Given the description of an element on the screen output the (x, y) to click on. 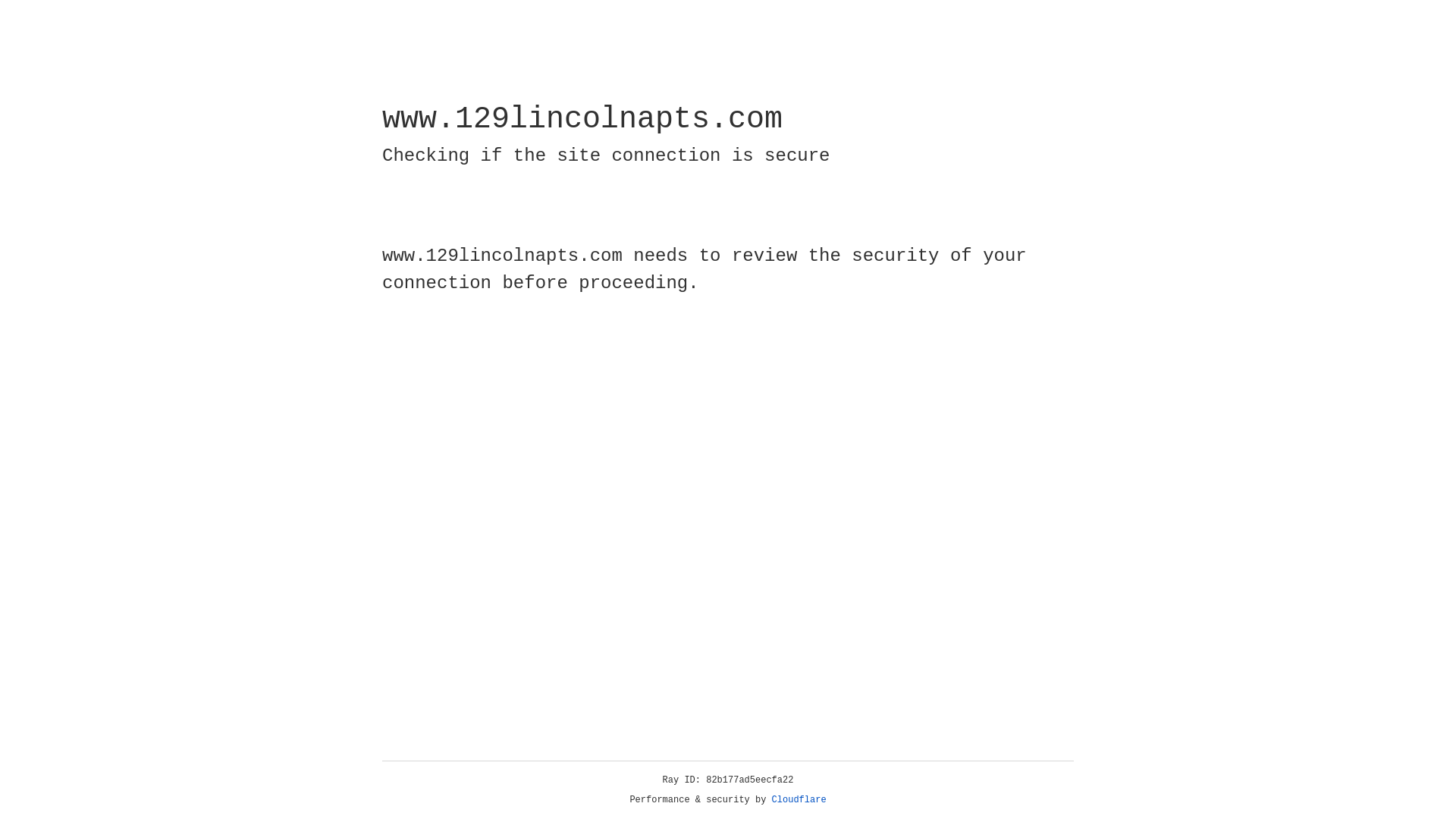
Cloudflare Element type: text (798, 799)
